Given the description of an element on the screen output the (x, y) to click on. 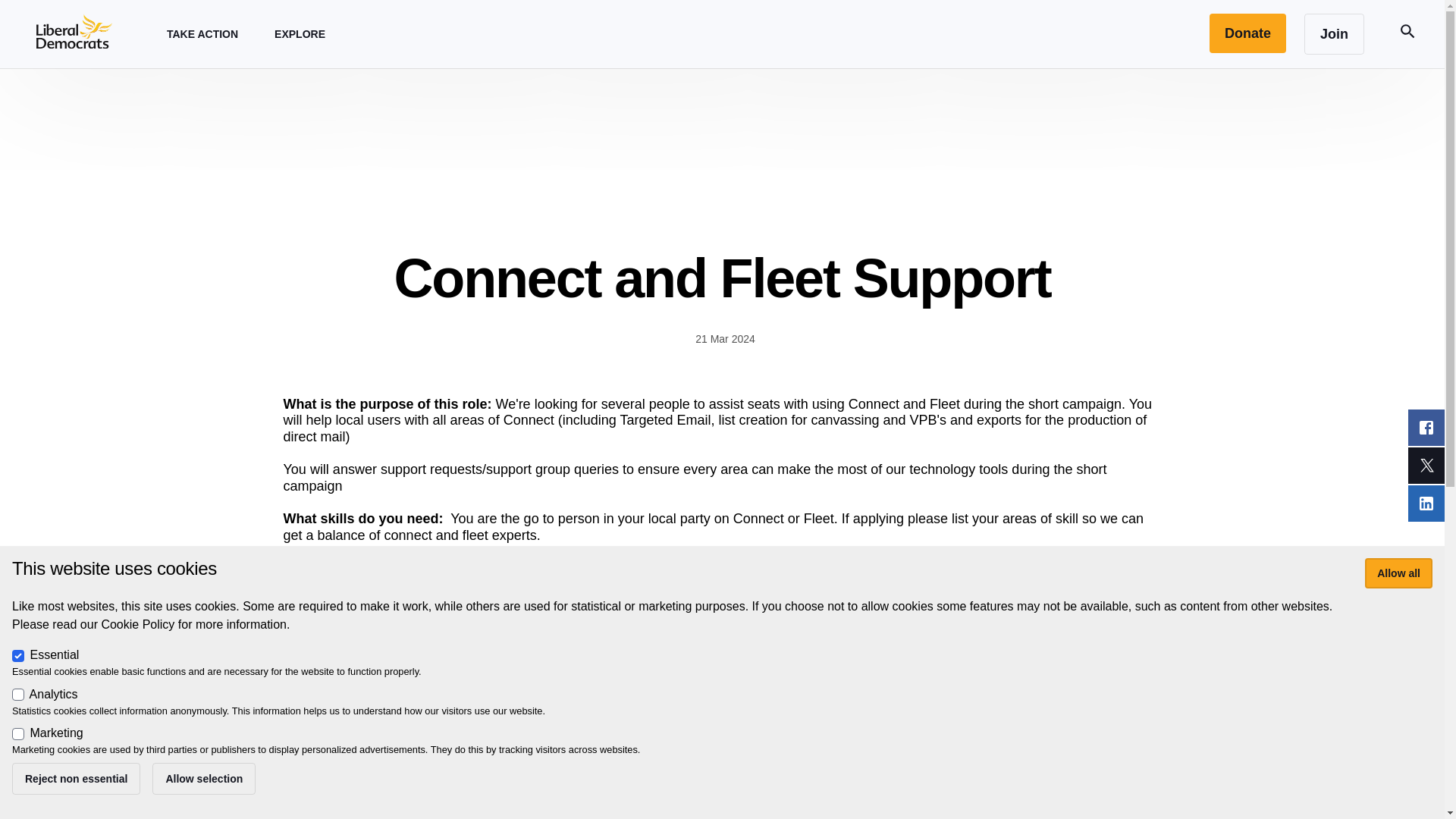
1 (17, 655)
1 (17, 694)
Reject non essential (75, 778)
Allow selection (204, 778)
Join (1334, 33)
Donate (1247, 33)
TAKE ACTION (202, 33)
EXPLORE (299, 33)
1 (17, 734)
Allow all (1398, 572)
